Given the description of an element on the screen output the (x, y) to click on. 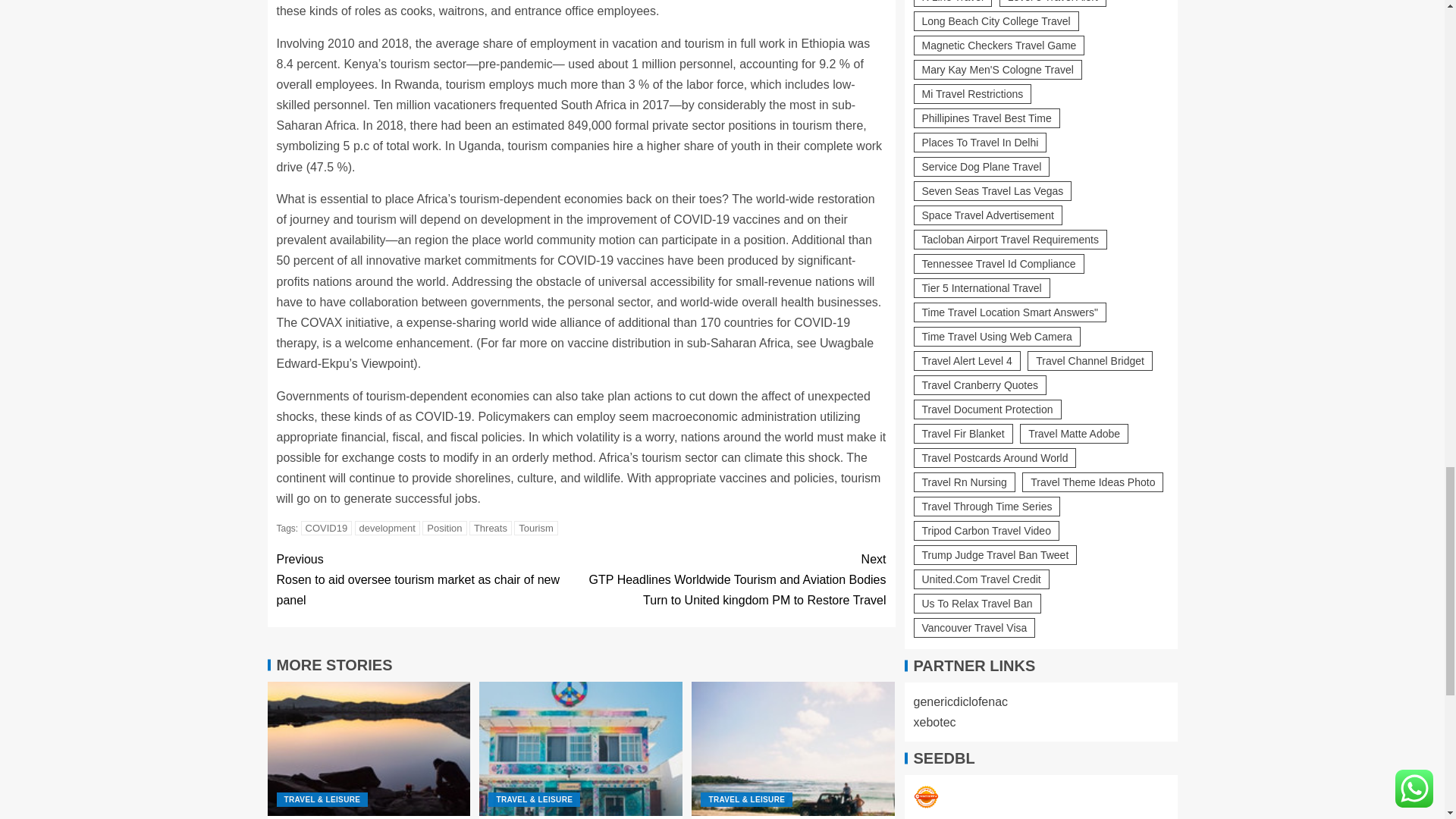
COVID19 (326, 527)
development (387, 527)
Tourism (535, 527)
Seedbacklink (925, 573)
Threats (490, 527)
Position (443, 527)
